Given the description of an element on the screen output the (x, y) to click on. 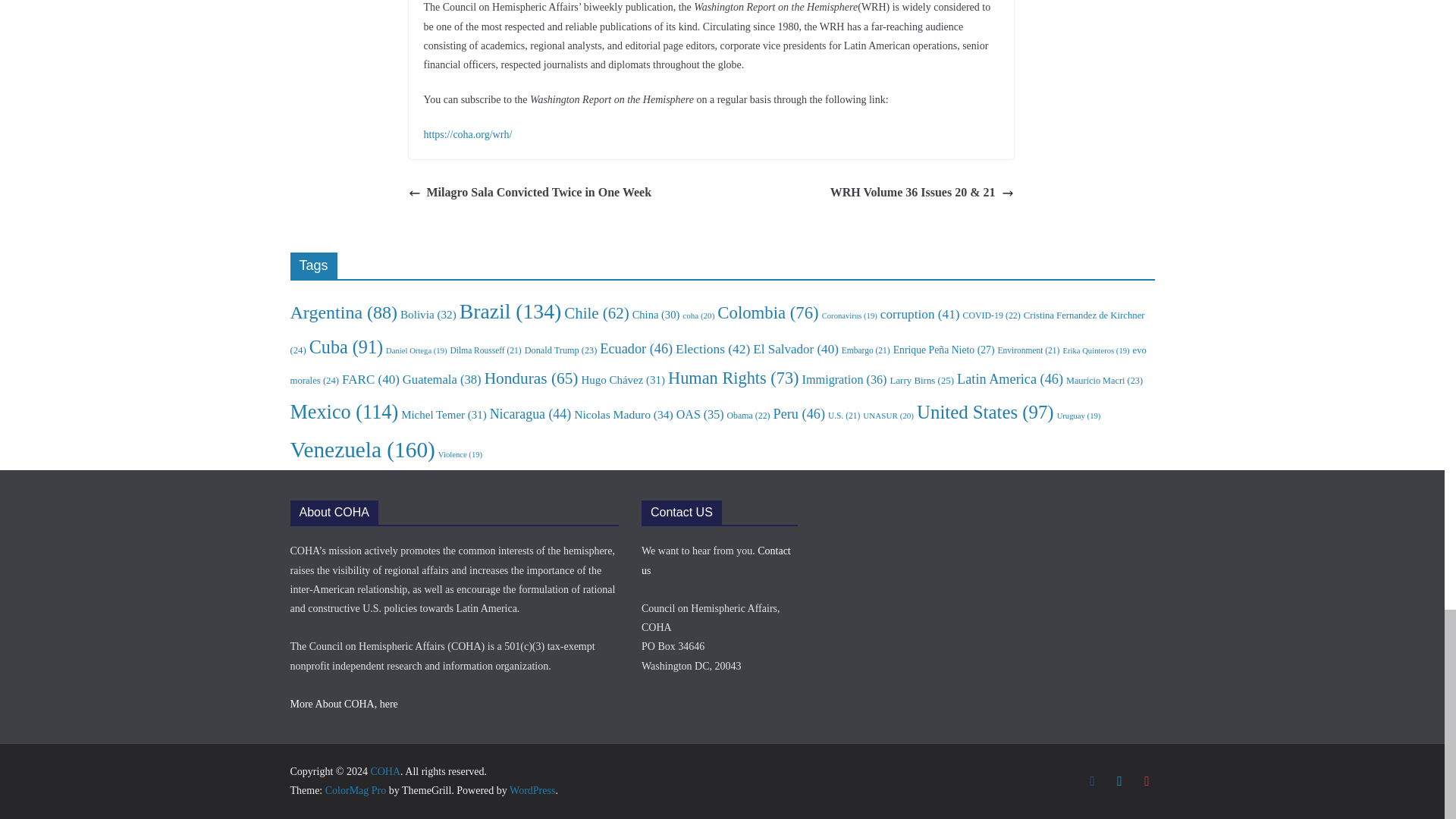
ColorMag Pro (355, 790)
WordPress (531, 790)
COHA (384, 771)
